Given the description of an element on the screen output the (x, y) to click on. 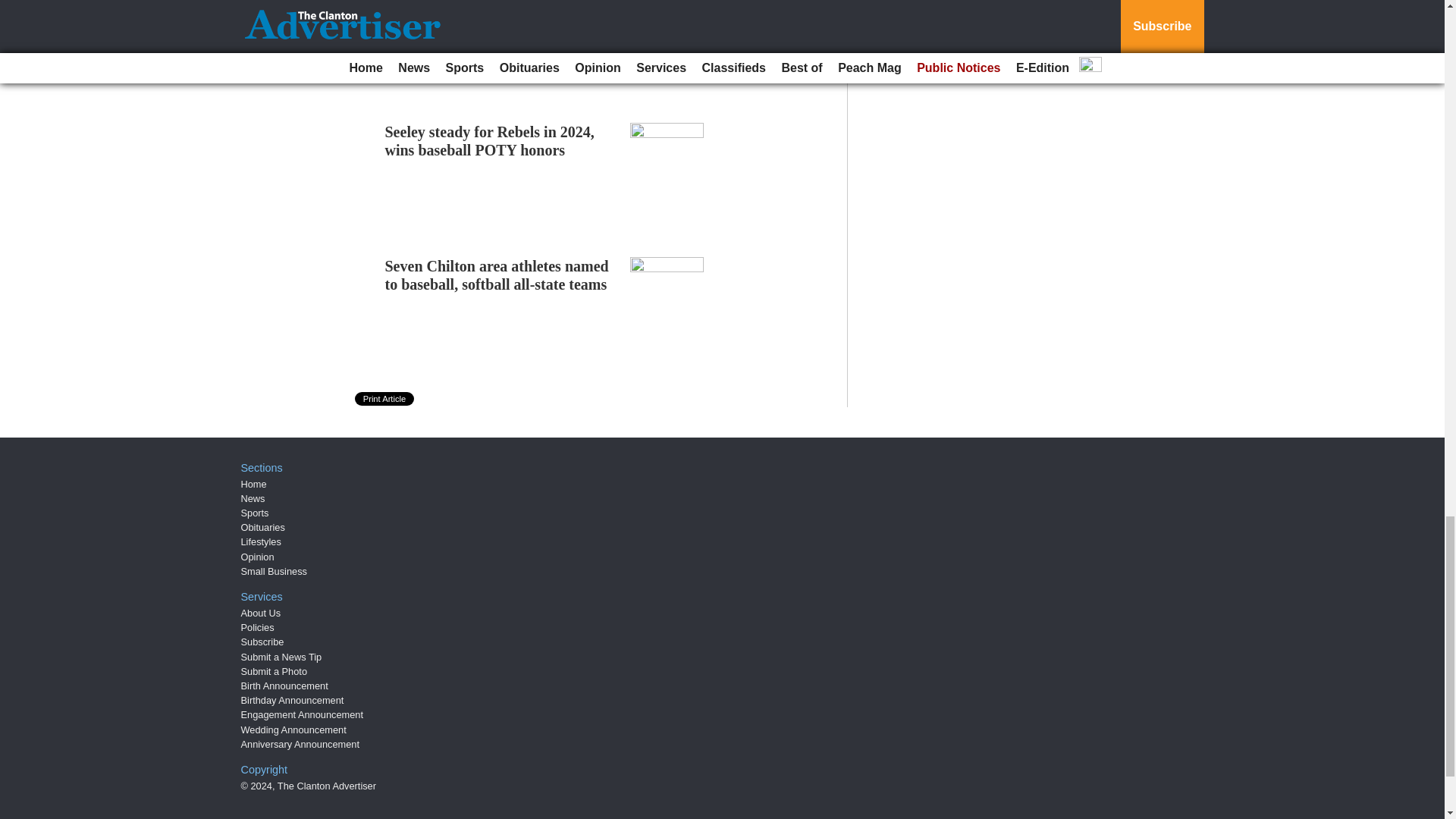
Seeley steady for Rebels in 2024, wins baseball POTY honors (489, 140)
Print Article (384, 398)
Seeley steady for Rebels in 2024, wins baseball POTY honors (489, 140)
Chilton spring sports alignment shaken up by AHSAA (488, 12)
Chilton spring sports alignment shaken up by AHSAA (488, 12)
